Given the description of an element on the screen output the (x, y) to click on. 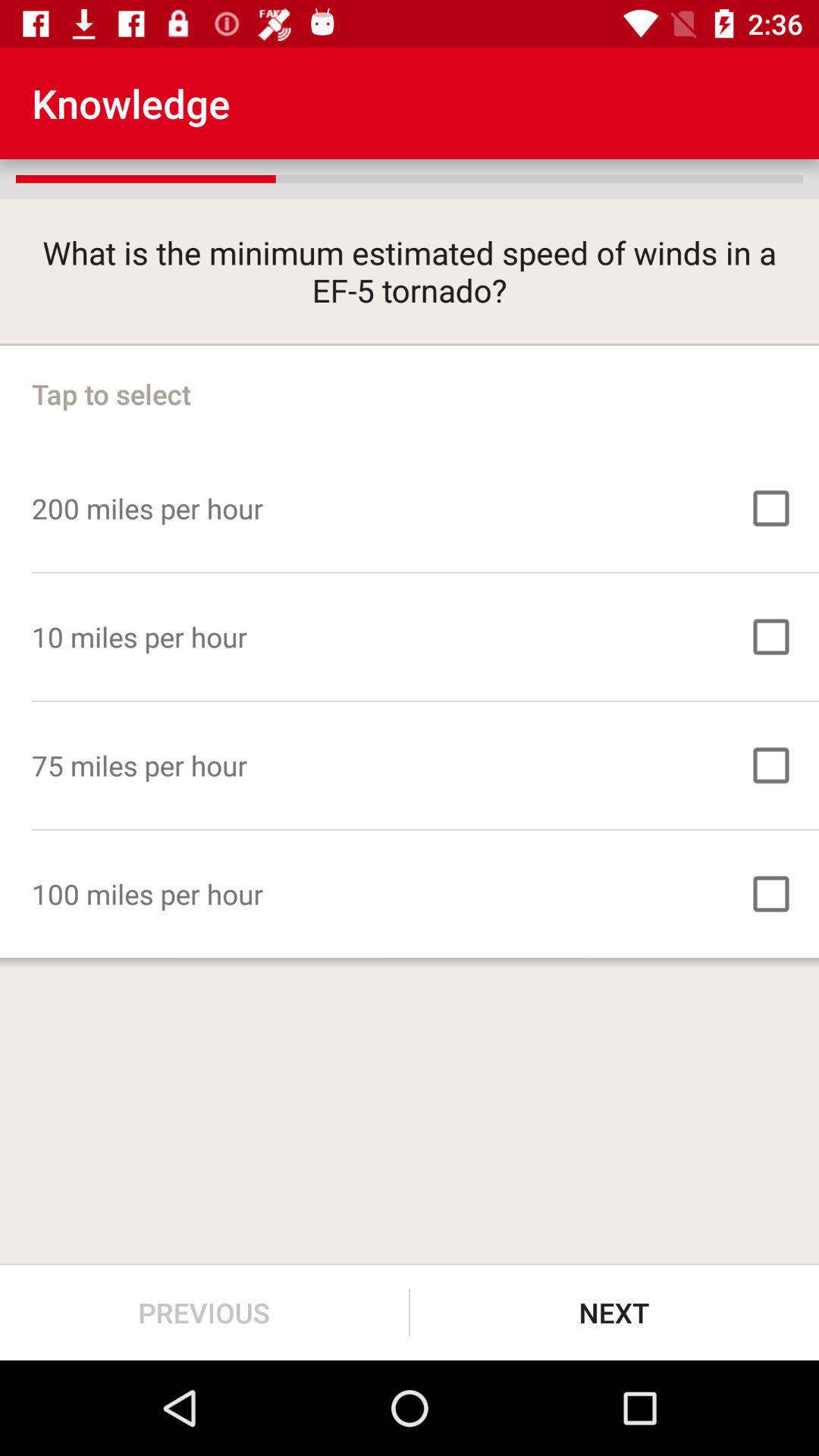
click the previous (204, 1312)
